Given the description of an element on the screen output the (x, y) to click on. 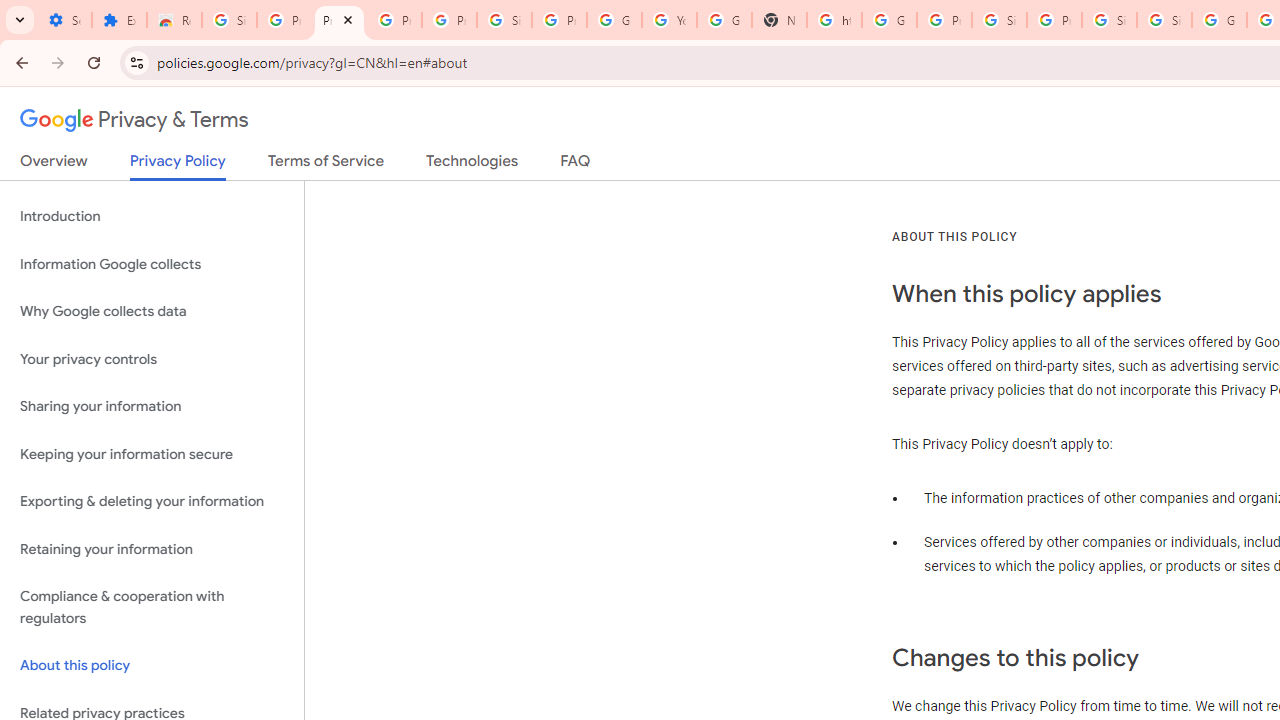
Information Google collects (152, 263)
